Given the description of an element on the screen output the (x, y) to click on. 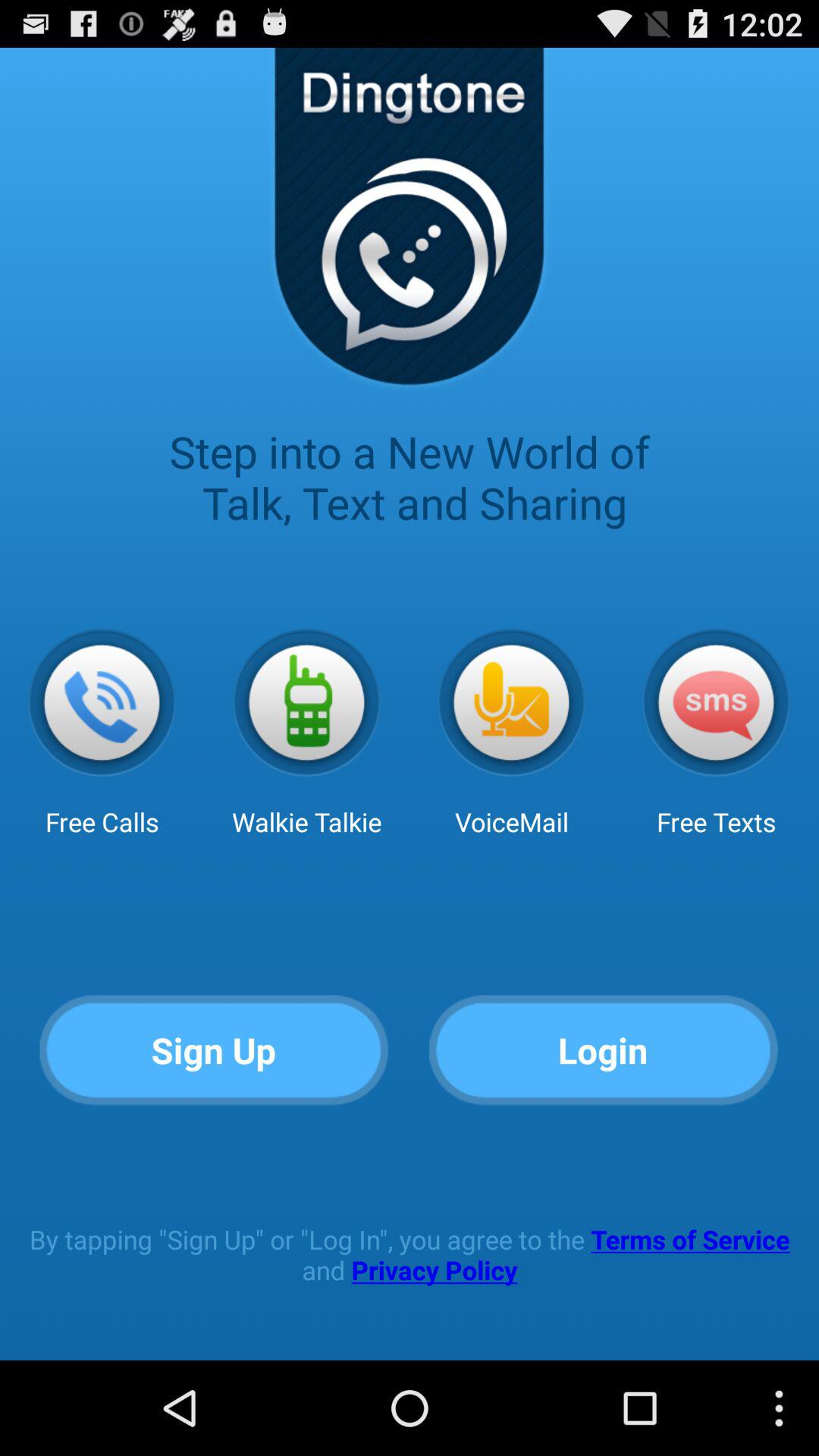
turn off icon below the sign up (409, 1254)
